Given the description of an element on the screen output the (x, y) to click on. 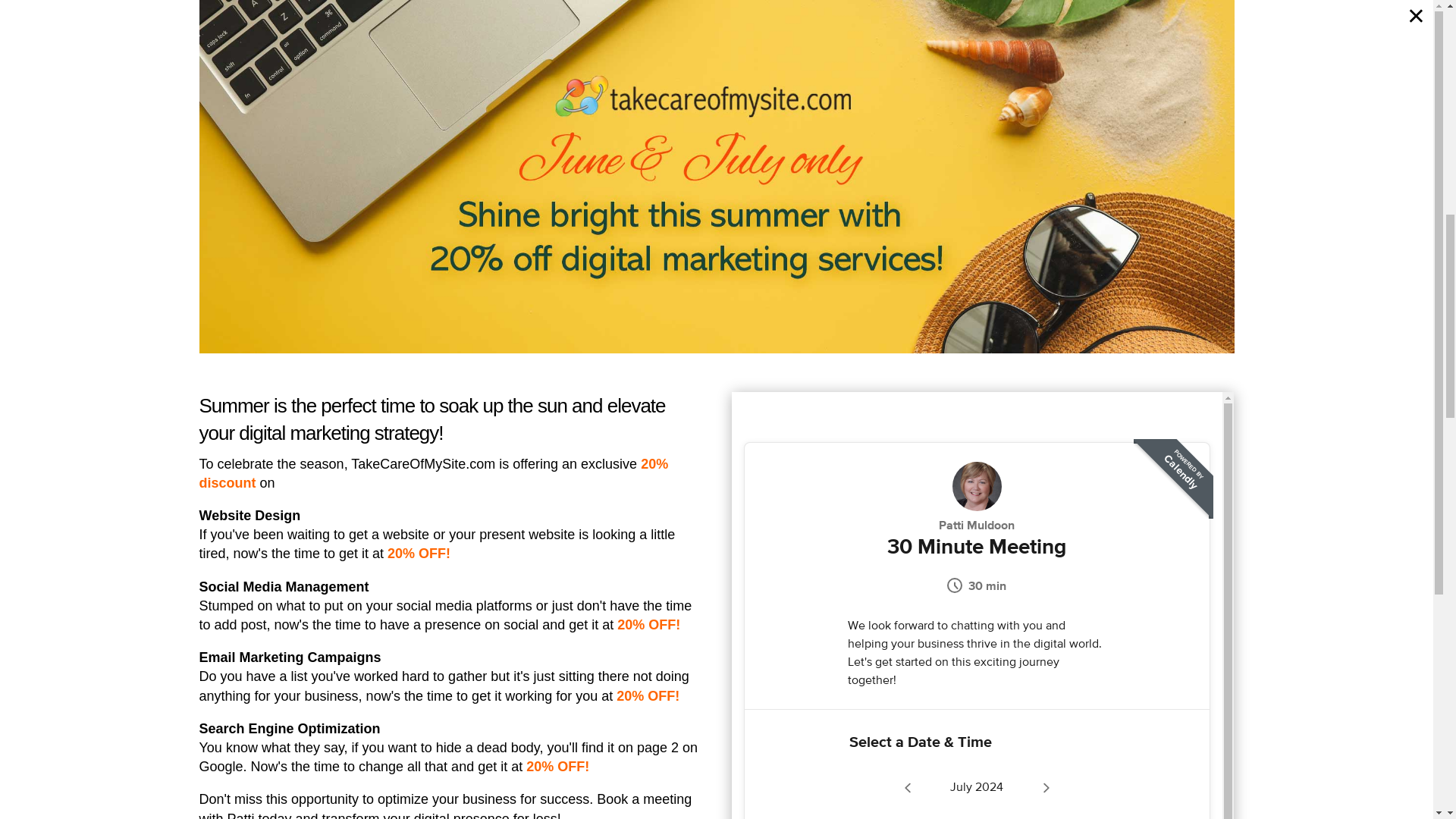
takecareofmysite-logo (300, 57)
benefits-of-hiring-web-design-company (455, 796)
5 Web Design Trends for 2022 (1022, 364)
website-mistakes (479, 97)
